Given the description of an element on the screen output the (x, y) to click on. 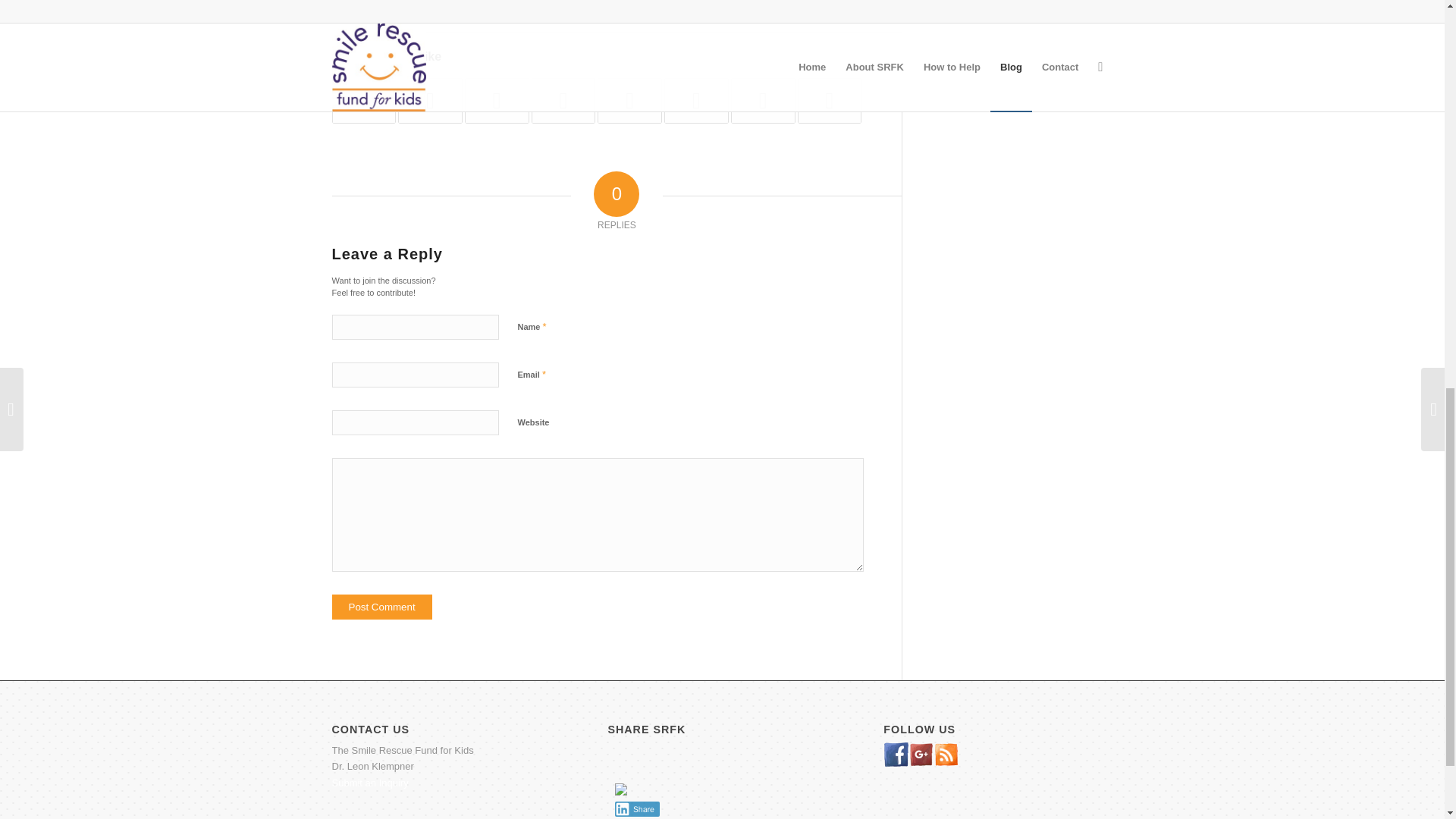
We are up and running! (363, 100)
Post Comment (381, 606)
